Given the description of an element on the screen output the (x, y) to click on. 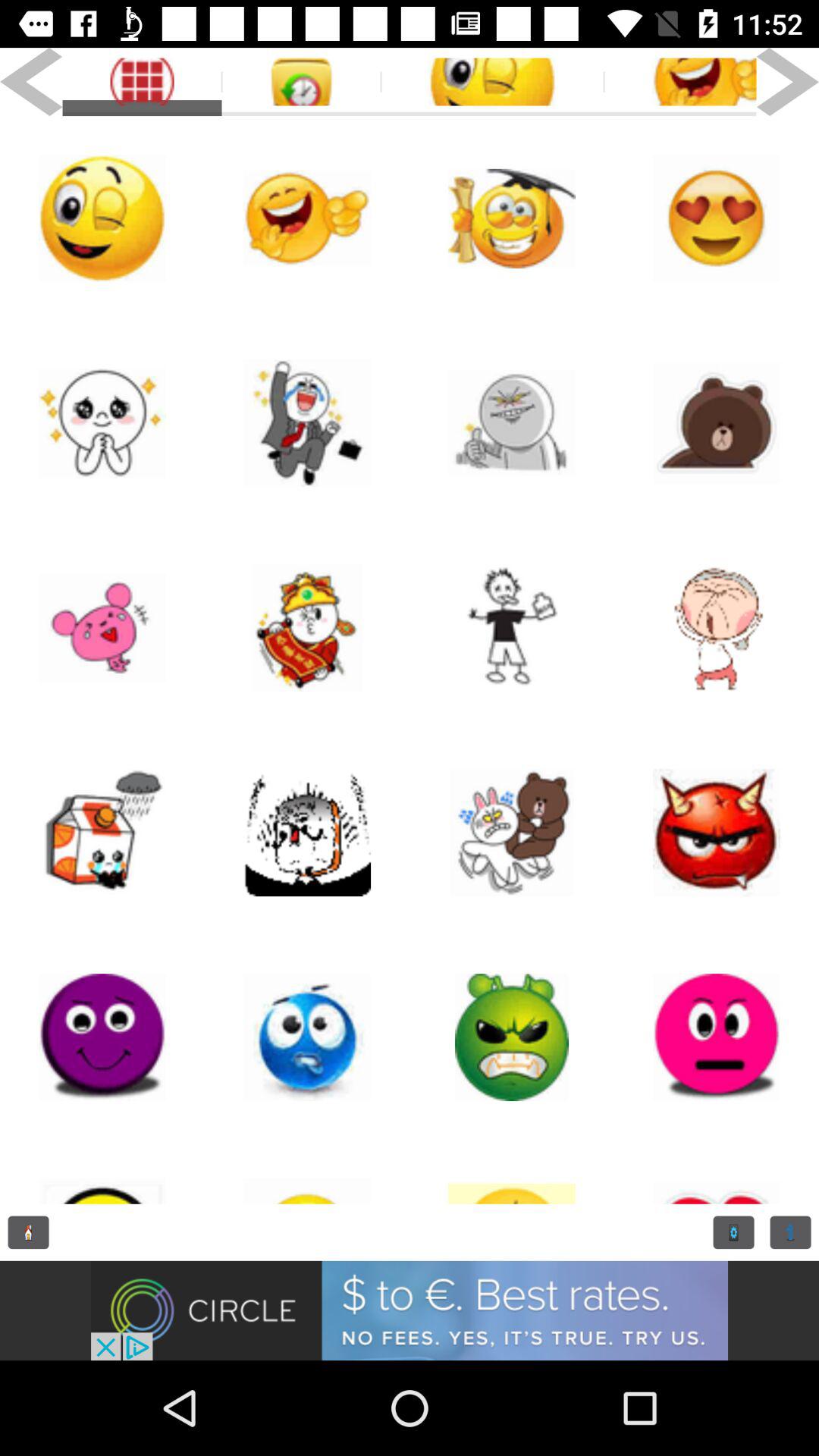
share the article page (511, 627)
